Given the description of an element on the screen output the (x, y) to click on. 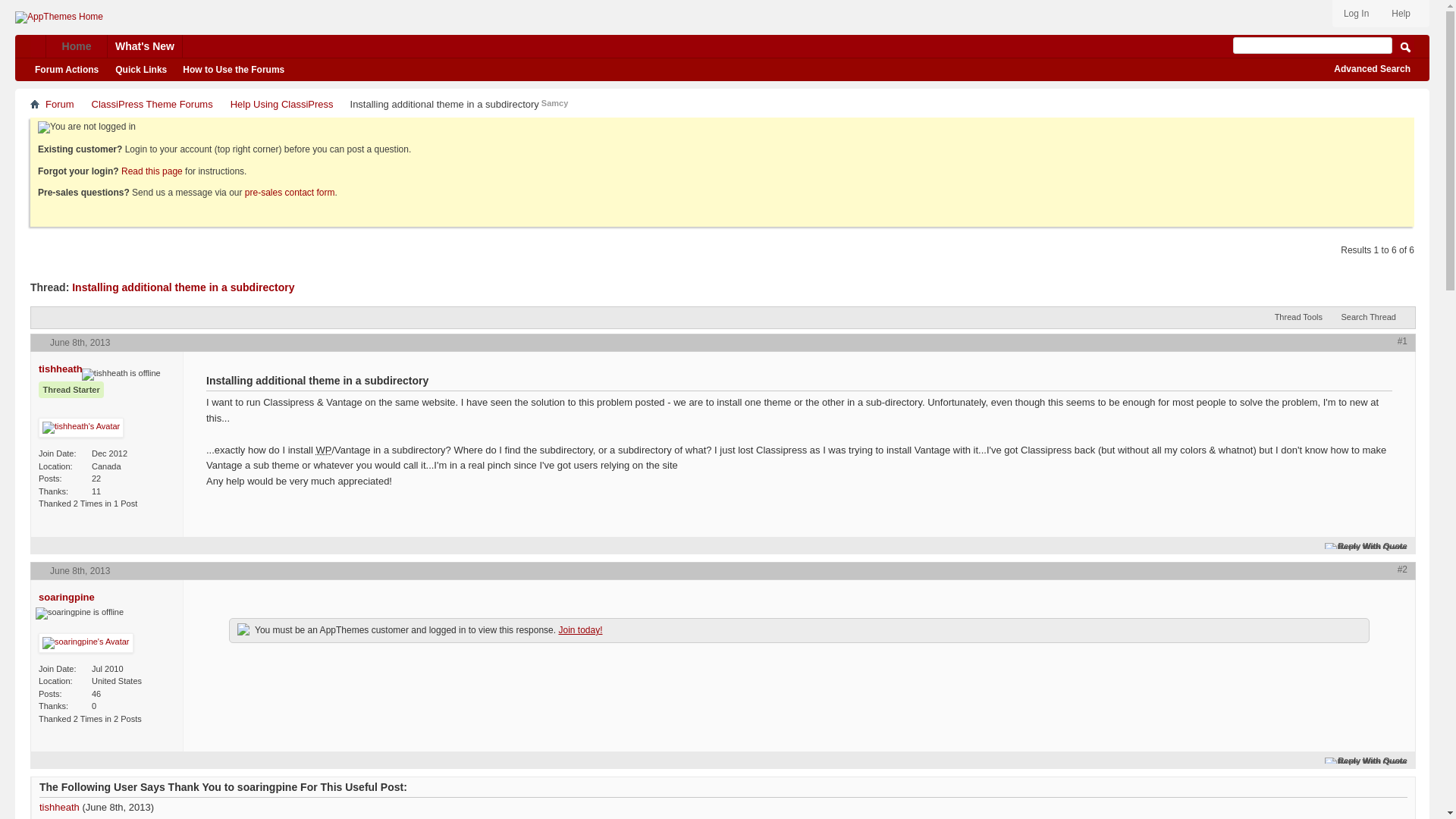
tishheath (60, 368)
Thread Tools (1302, 317)
Home (34, 102)
pre-sales contact form (289, 192)
tishheath is offline (120, 374)
Forum Actions (70, 69)
tishheath is offline (60, 368)
WordPress (323, 449)
What's New (144, 46)
tishheath is offline (81, 427)
